Given the description of an element on the screen output the (x, y) to click on. 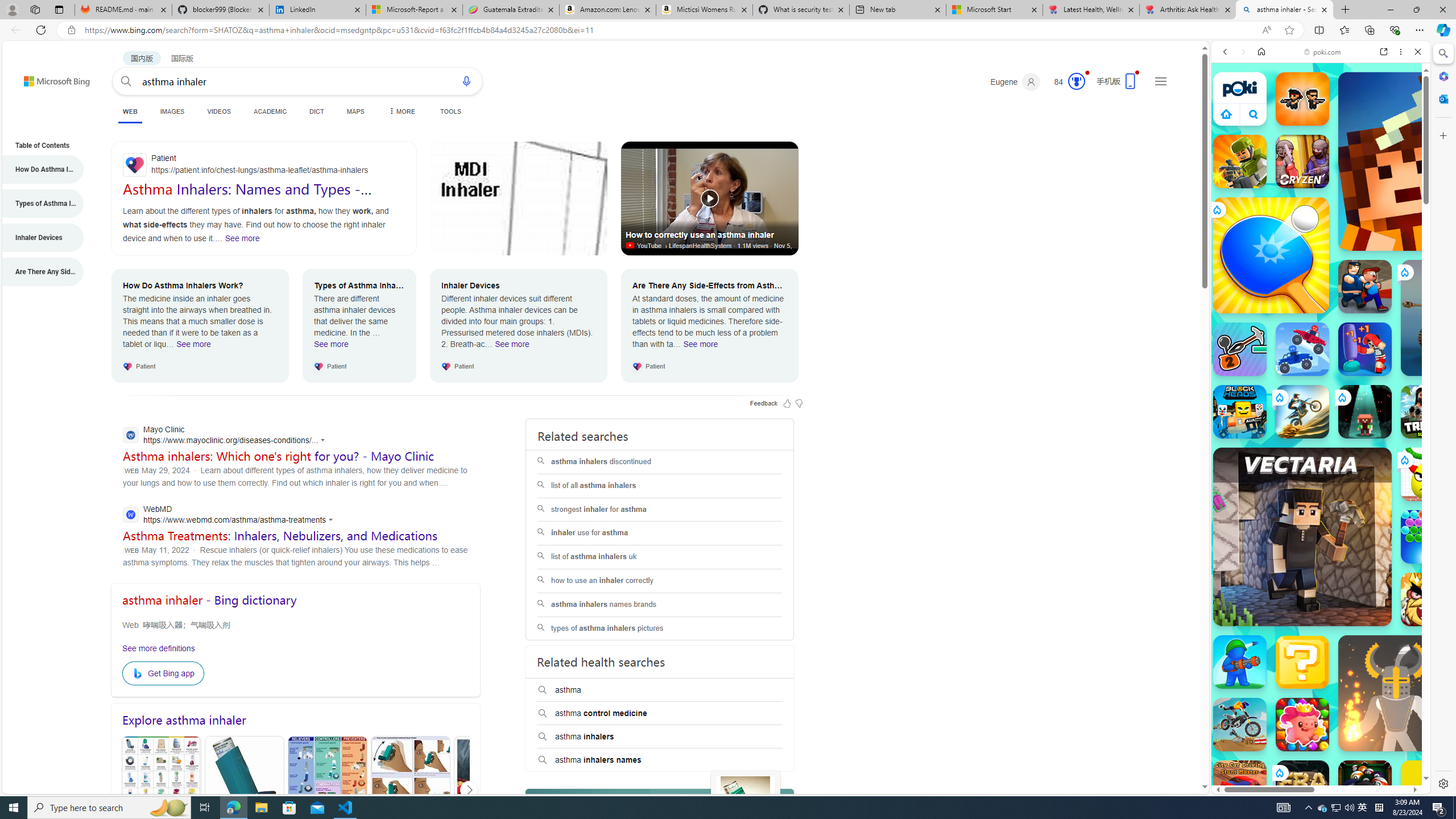
Vectaria.io (1301, 536)
Show More Car Games (1390, 268)
Mayo Clinic (226, 435)
list of all asthma inhalers (659, 485)
Bubble Shooter (1427, 536)
strongest inhaler for asthma (659, 509)
DICT (316, 111)
Combat Reloaded Combat Reloaded poki.com (1349, 548)
Cryzen.io (1302, 161)
Poki (1315, 754)
asthma inhaler - Bing dictionary (209, 599)
